Given the description of an element on the screen output the (x, y) to click on. 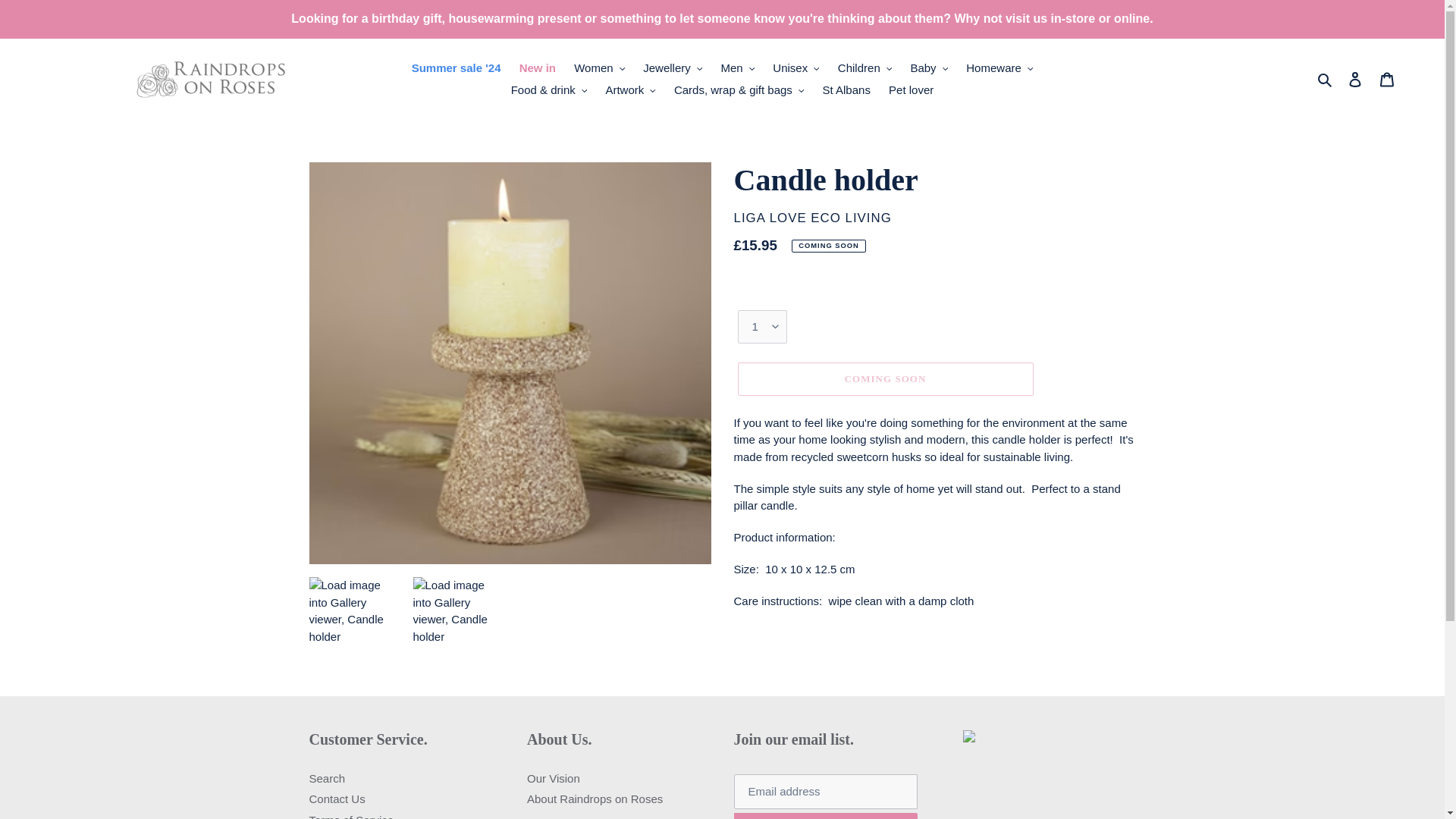
Jewellery (672, 186)
Men (737, 186)
New in (537, 186)
Women (598, 186)
Summer sale '24 (456, 186)
